Given the description of an element on the screen output the (x, y) to click on. 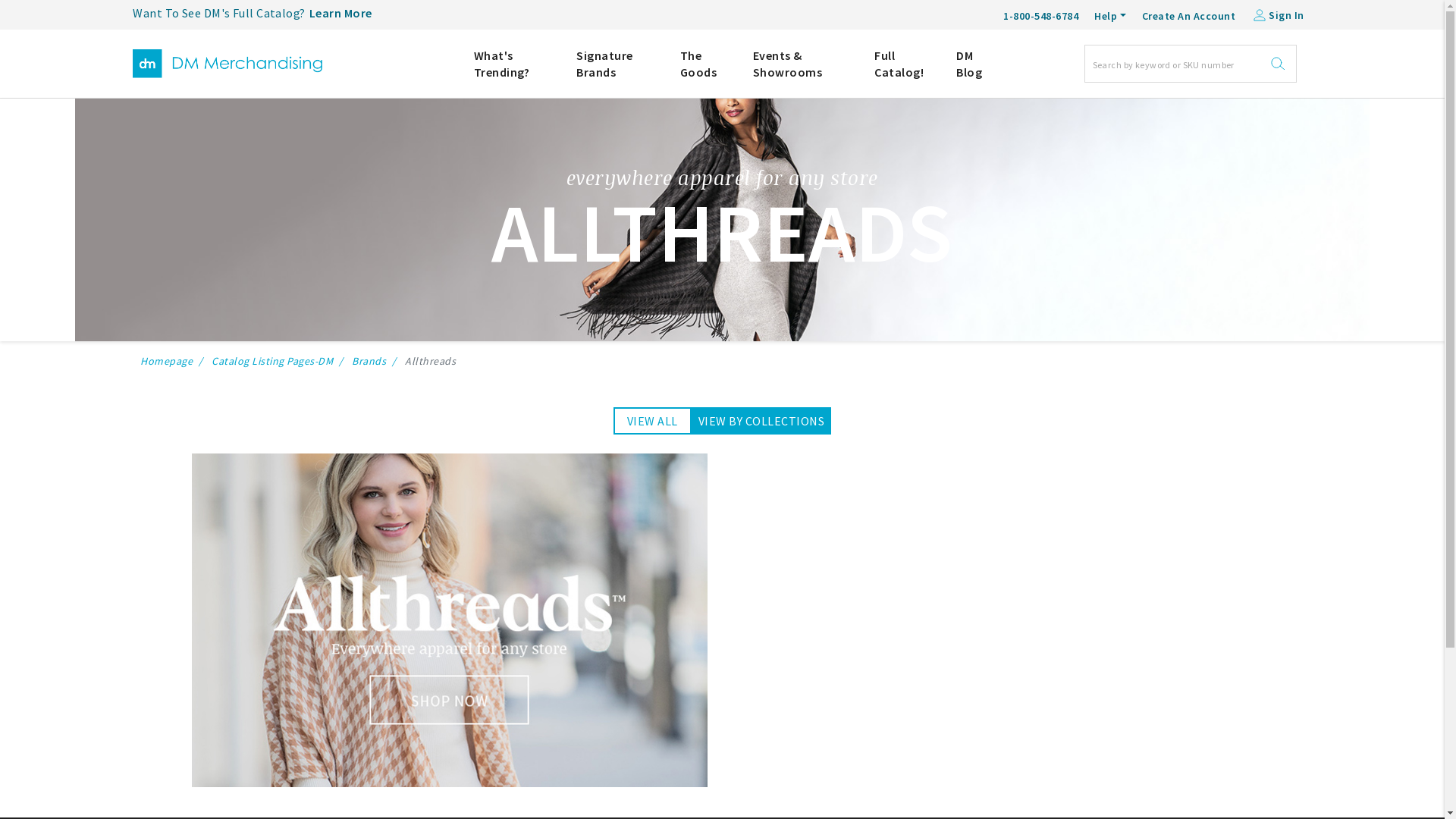
DM Blog Element type: text (974, 63)
Brands Element type: text (368, 360)
Create An Account Element type: text (1189, 13)
VIEW ALL Element type: text (652, 420)
The Goods Element type: text (705, 63)
Homepage Element type: text (166, 360)
Learn More Element type: text (340, 13)
Events & Showrooms Element type: text (801, 63)
Help Element type: text (1109, 16)
Catalog Listing Pages-DM Element type: text (271, 360)
What's Trending? Element type: text (513, 63)
Signature Brands Element type: text (616, 63)
Full Catalog! Element type: text (903, 63)
